Given the description of an element on the screen output the (x, y) to click on. 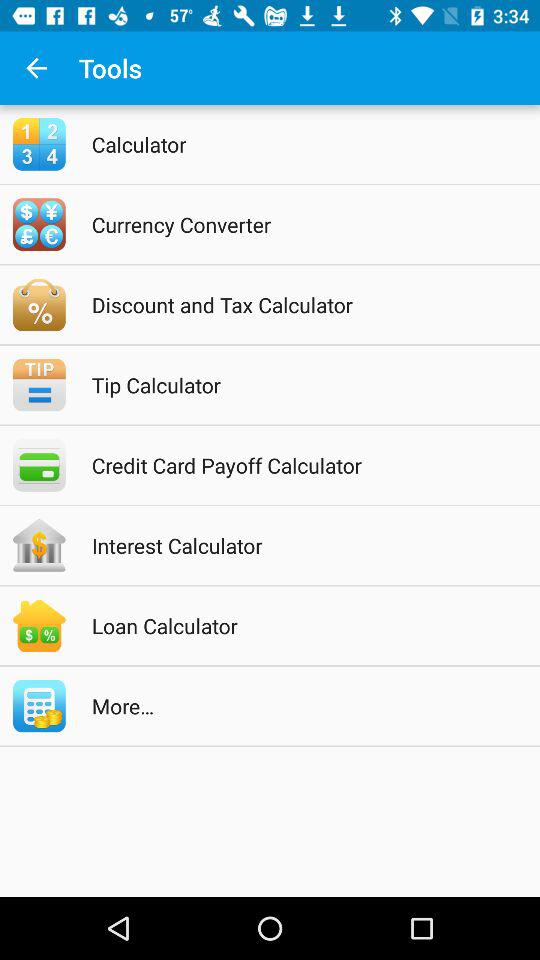
select the icon which is left to the loan calculator (38, 625)
click on the icon which is left to the tip calculator (38, 384)
